Given the description of an element on the screen output the (x, y) to click on. 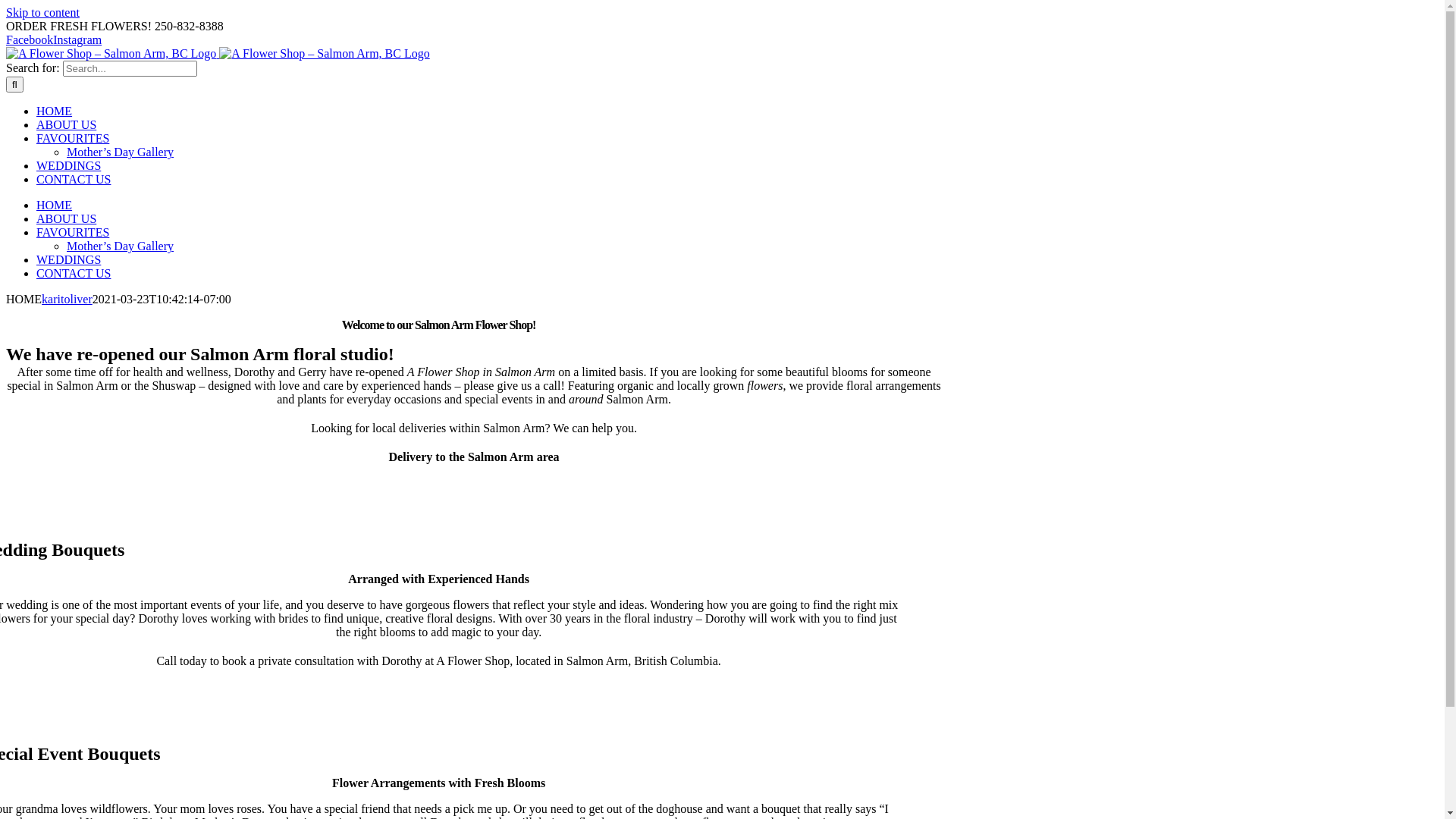
FAVOURITES Element type: text (72, 137)
HOME Element type: text (54, 110)
CONTACT US Element type: text (73, 272)
WEDDINGS Element type: text (68, 165)
ABOUT US Element type: text (66, 218)
ABOUT US Element type: text (66, 124)
Facebook Element type: text (29, 39)
CONTACT US Element type: text (73, 178)
FAVOURITES Element type: text (72, 231)
WEDDINGS Element type: text (68, 259)
HOME Element type: text (54, 204)
karitoliver Element type: text (66, 298)
Instagram Element type: text (77, 39)
Skip to content Element type: text (42, 12)
